Given the description of an element on the screen output the (x, y) to click on. 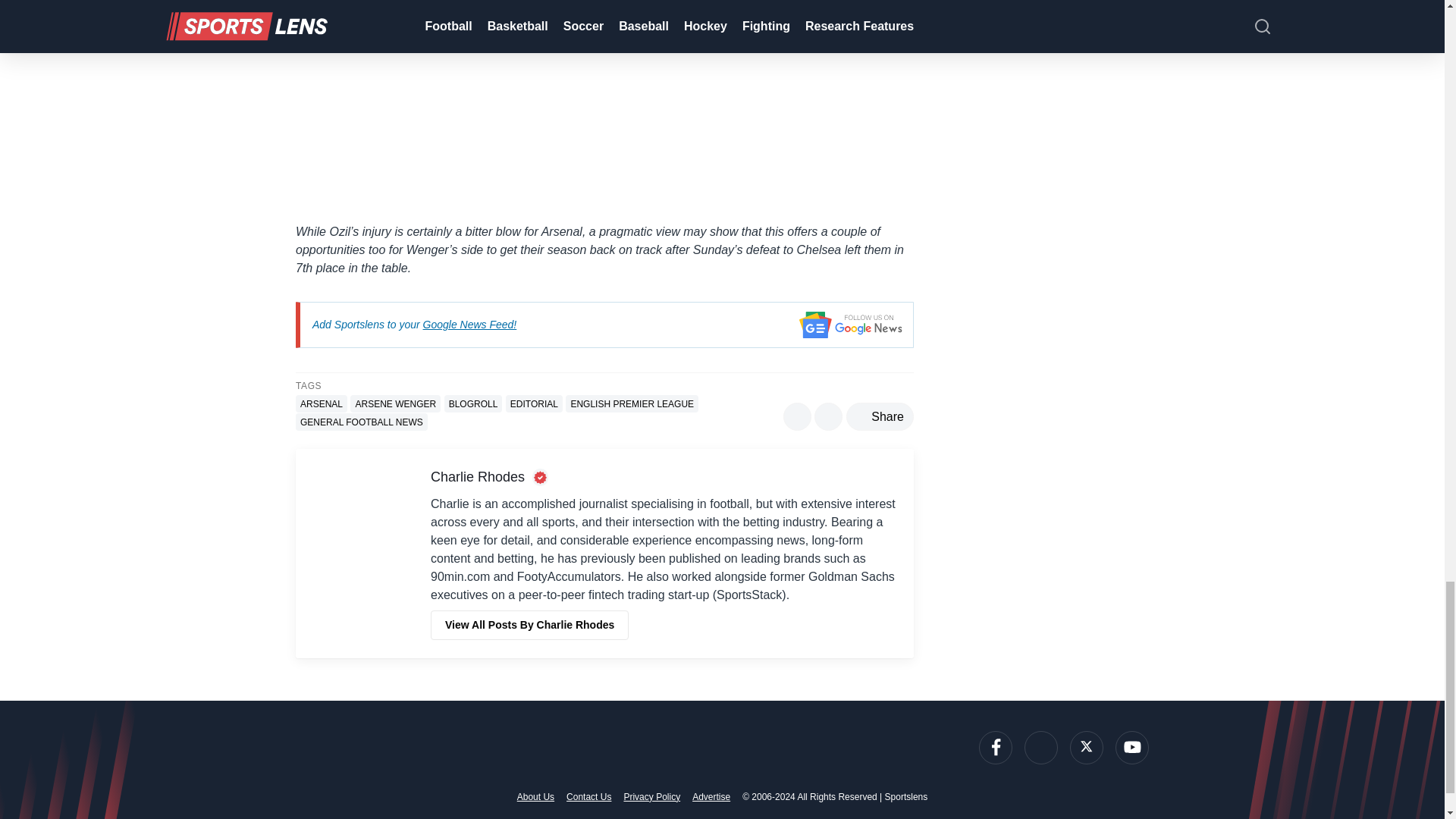
BLOGROLL (473, 403)
ARSENAL (321, 403)
EDITORIAL (533, 403)
ENGLISH PREMIER LEAGUE (632, 403)
GENERAL FOOTBALL NEWS (361, 421)
ARSENE WENGER (395, 403)
Share (879, 416)
Google News Feed! (469, 324)
